Given the description of an element on the screen output the (x, y) to click on. 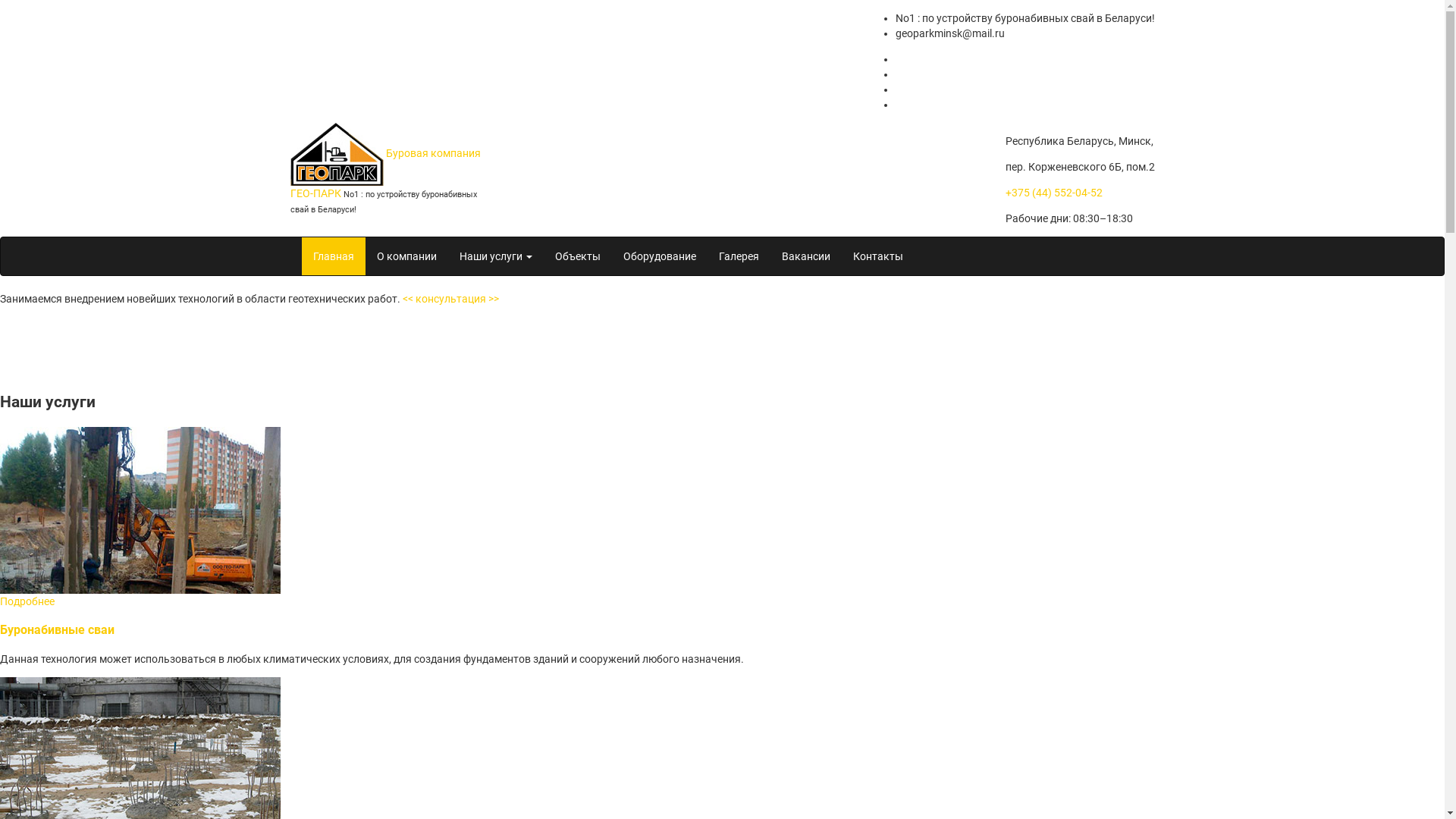
+375 (44) 552-04-52 Element type: text (1053, 192)
